Given the description of an element on the screen output the (x, y) to click on. 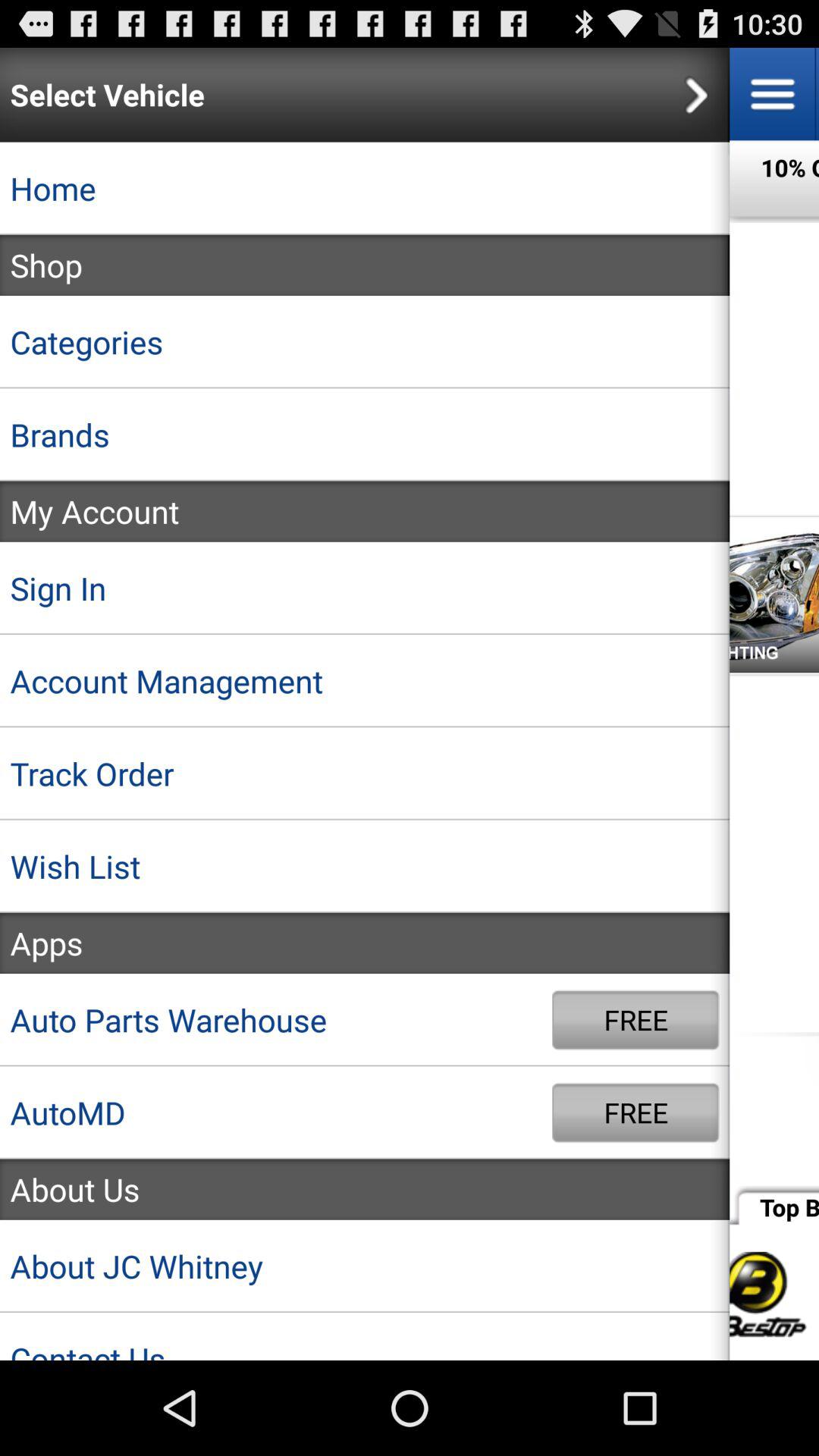
jump to the track order item (364, 773)
